Given the description of an element on the screen output the (x, y) to click on. 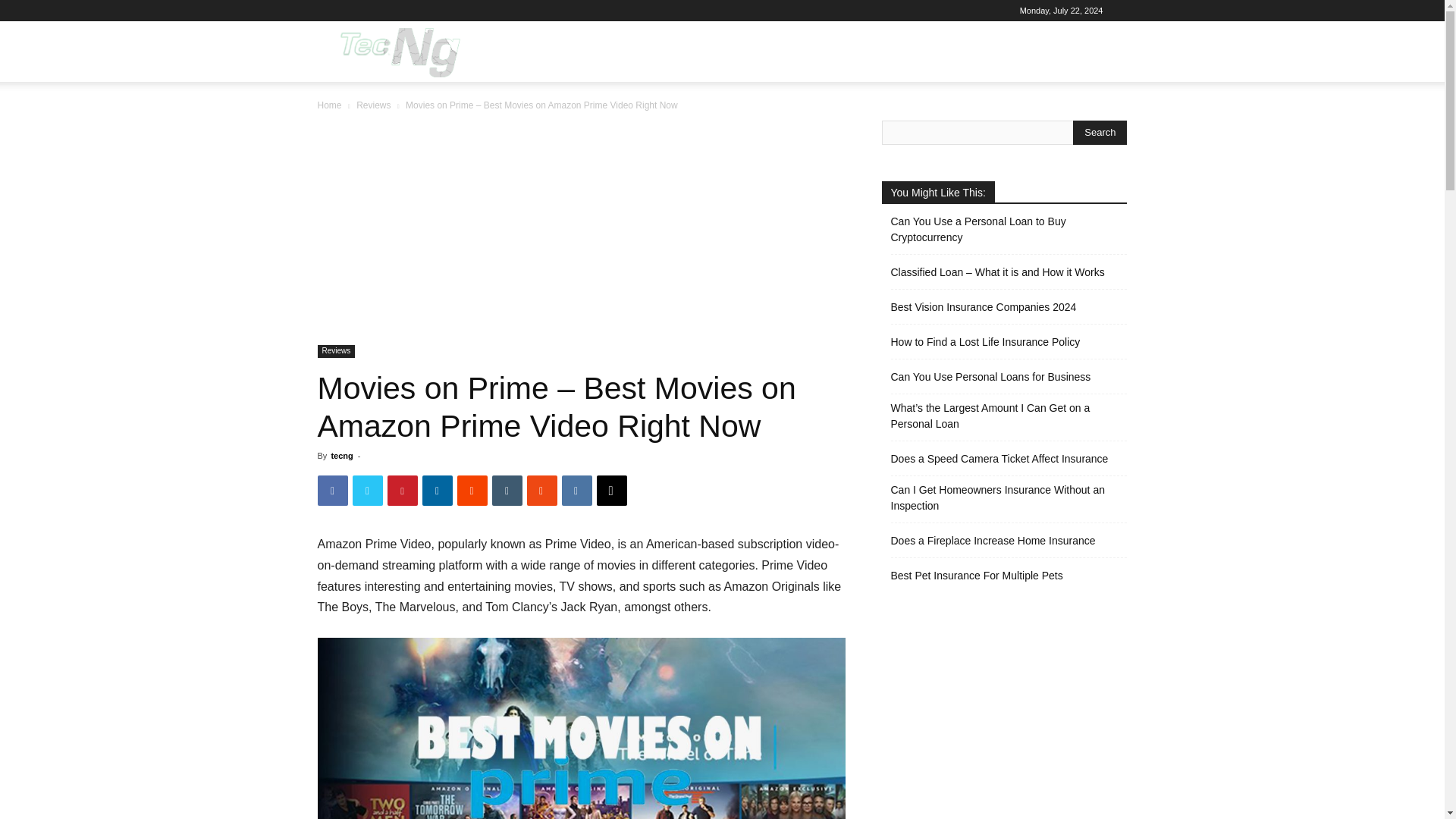
Reviews (373, 104)
Reviews (336, 350)
Advertisement (580, 232)
Pinterest (401, 490)
Facebook (332, 490)
INSURANCE (887, 51)
Search (1085, 124)
Search (1099, 132)
Digg (610, 490)
Mix (540, 490)
Linkedin (436, 490)
ReddIt (471, 490)
VK (575, 490)
Twitter (366, 490)
TecNg (398, 51)
